Given the description of an element on the screen output the (x, y) to click on. 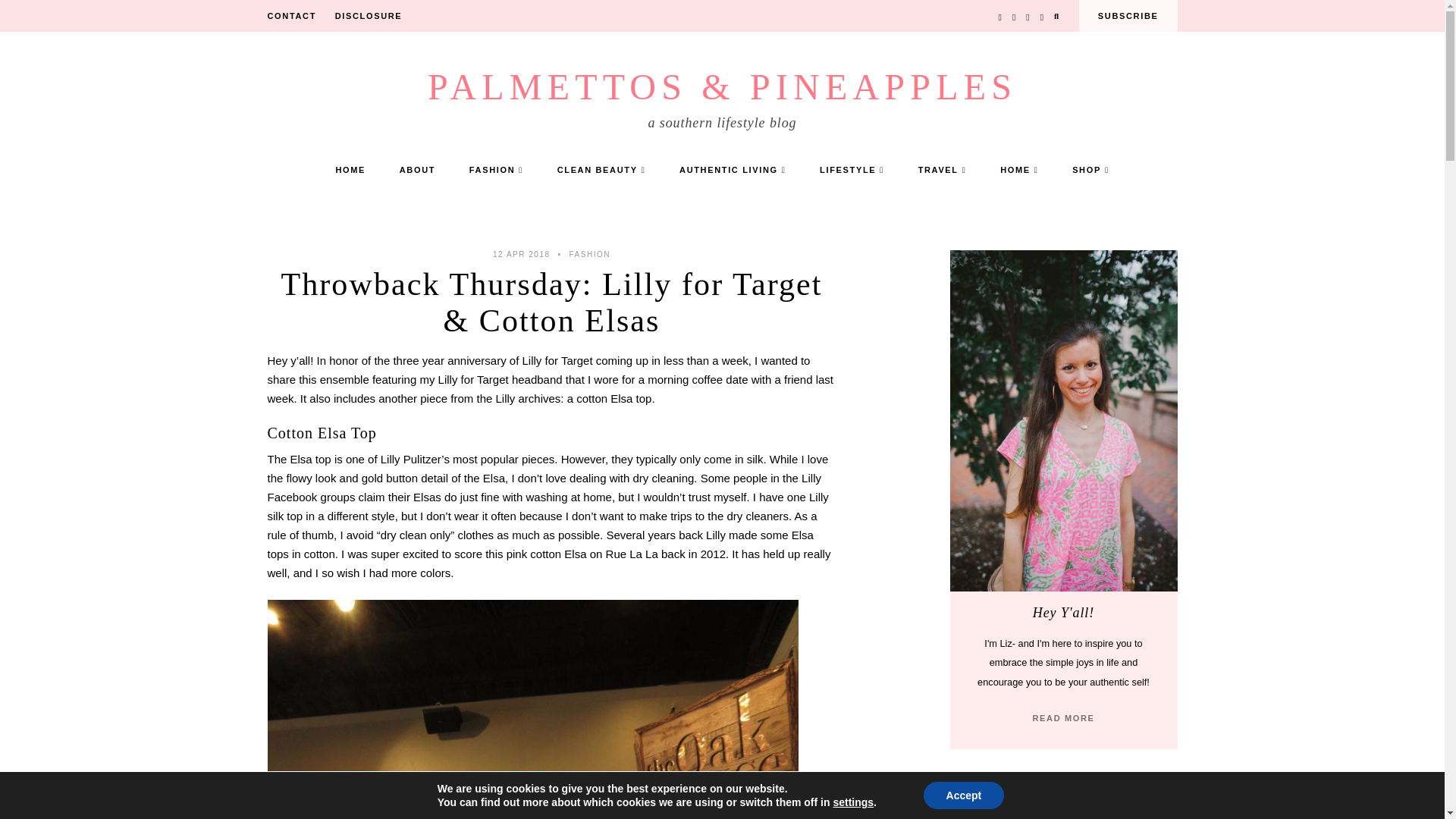
View all posts in Fashion (589, 254)
SUBSCRIBE (1127, 15)
DISCLOSURE (368, 15)
HOME (349, 169)
CONTACT (290, 15)
ABOUT (416, 169)
FASHION (495, 169)
